Given the description of an element on the screen output the (x, y) to click on. 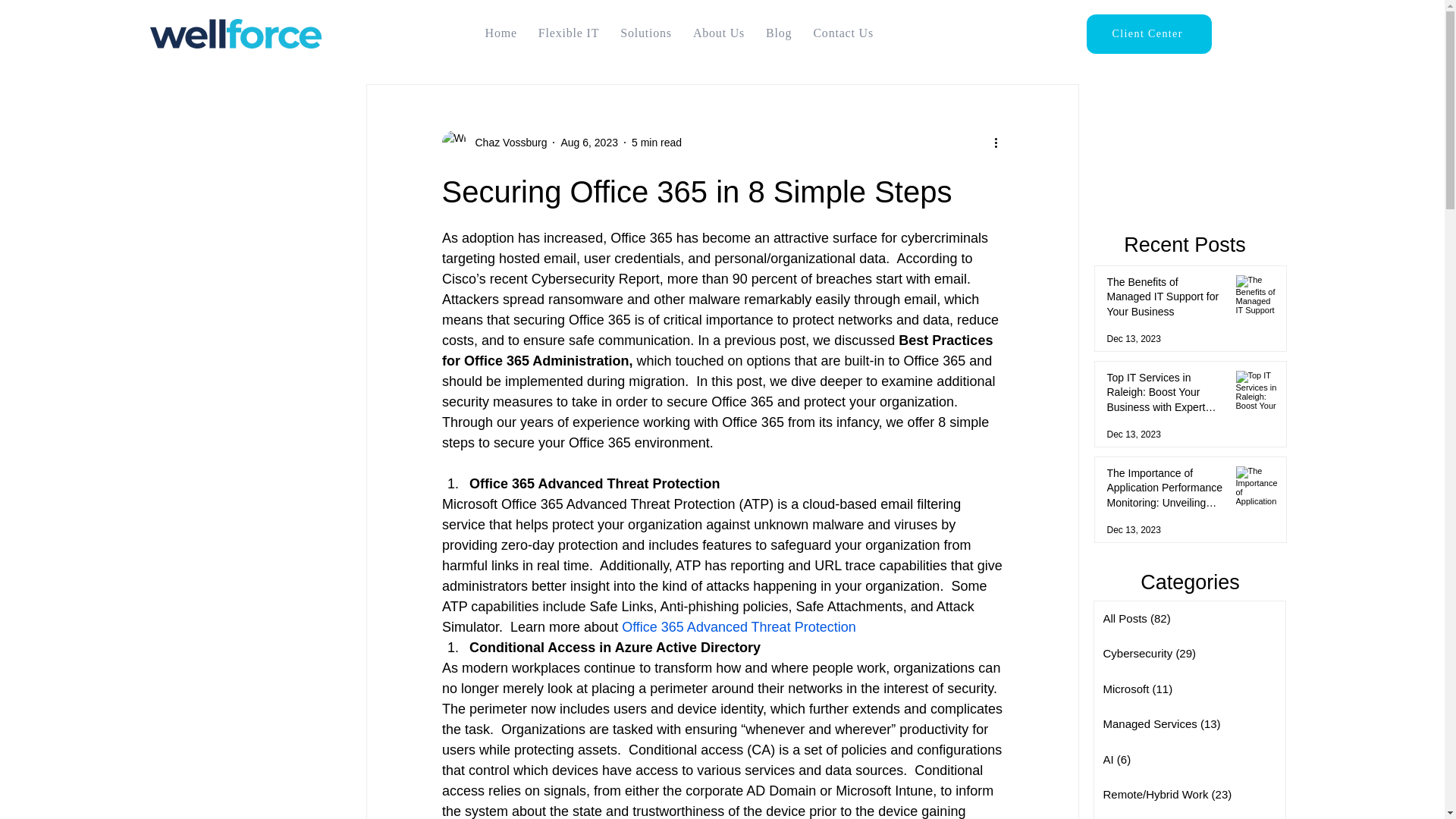
Blog (778, 32)
5 min read (656, 142)
Client Center (1148, 34)
Home (500, 32)
Office 365 Advanced Threat Protection (738, 626)
Dec 13, 2023 (1133, 529)
Aug 6, 2023 (588, 142)
Contact Us (842, 32)
The Benefits of Managed IT Support for Your Business (1165, 300)
